Given the description of an element on the screen output the (x, y) to click on. 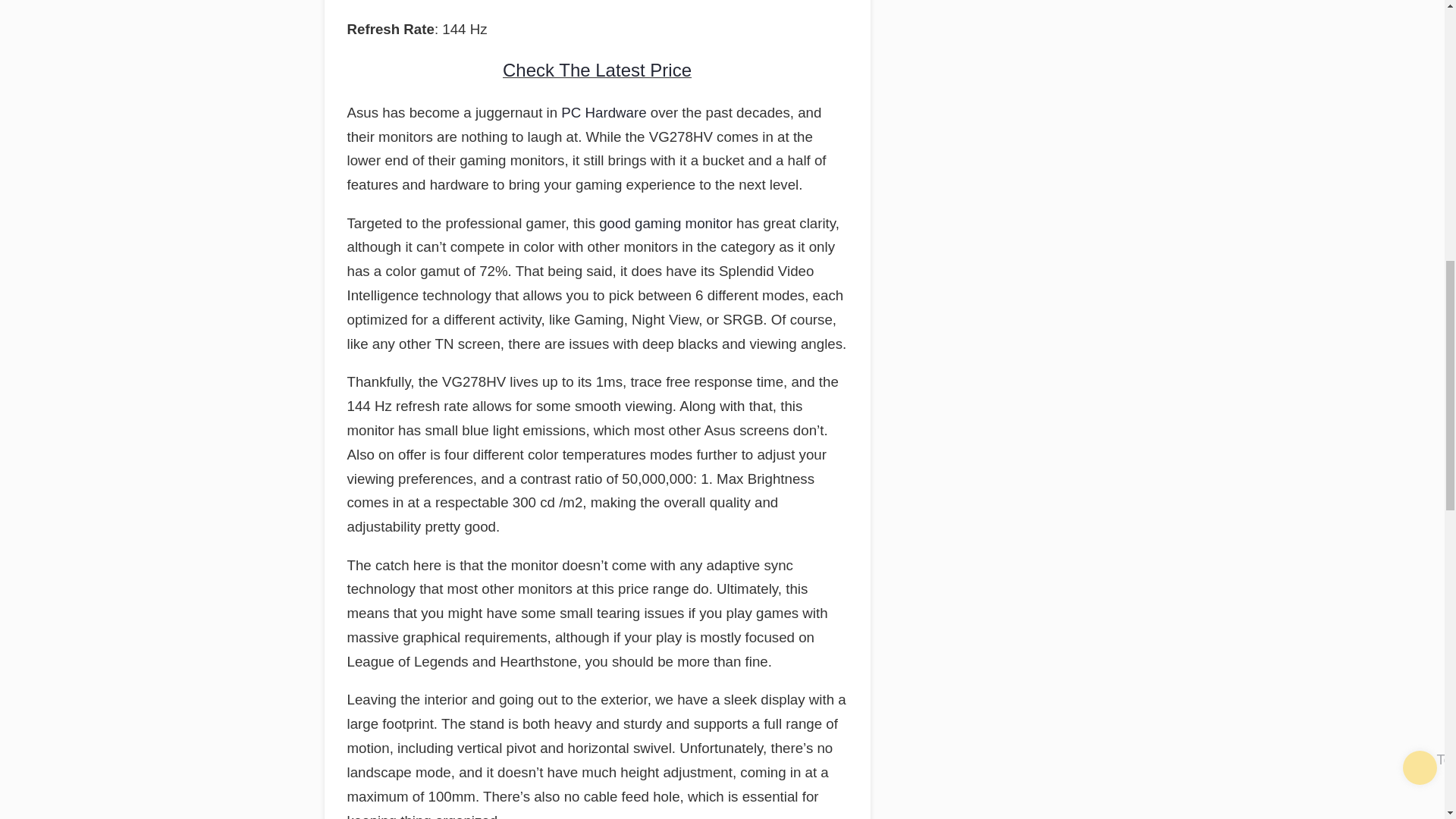
Check The Latest Price (596, 69)
good gaming monitor (665, 222)
PC Hardware (603, 112)
